Given the description of an element on the screen output the (x, y) to click on. 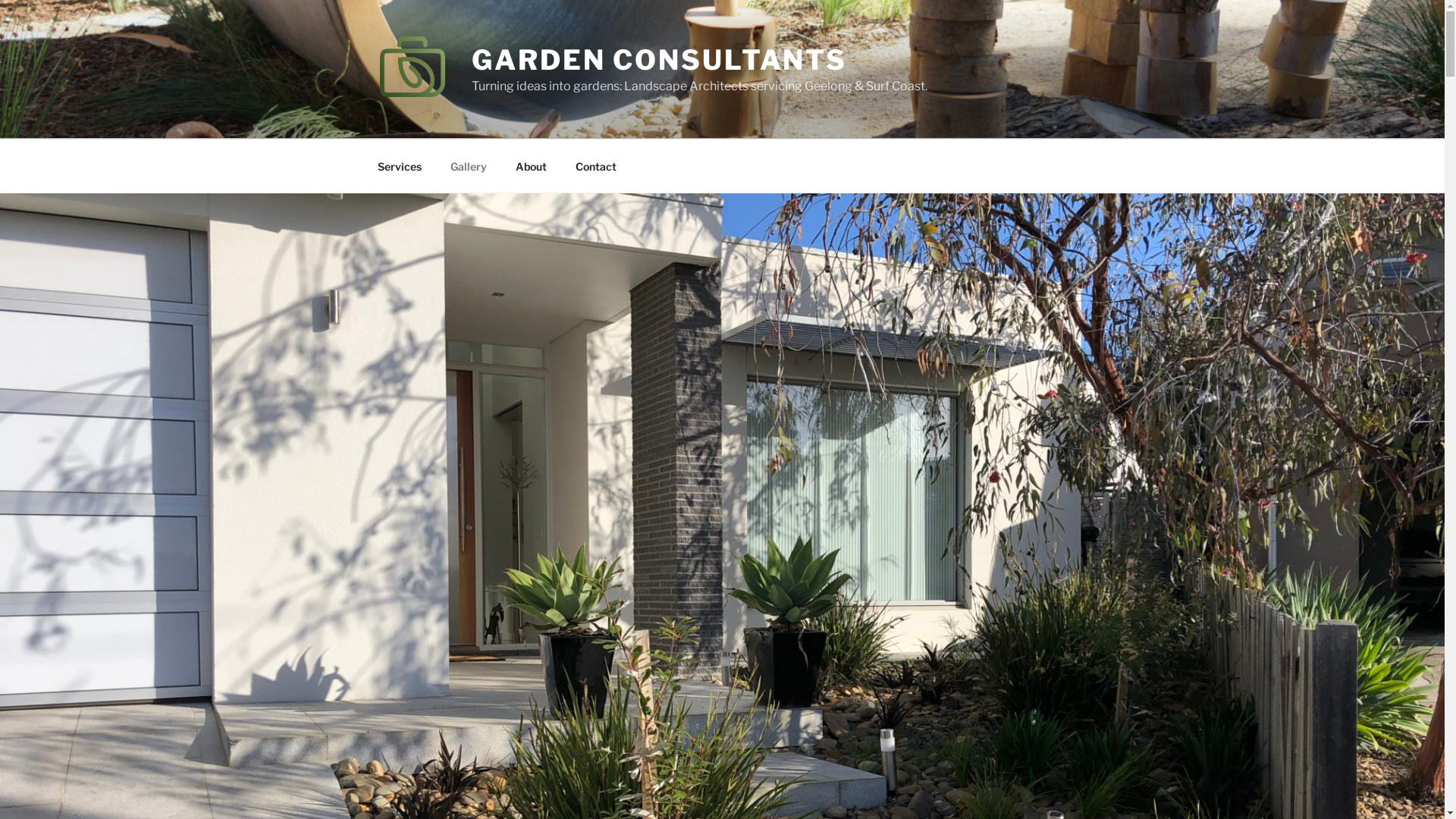
GARDEN CONSULTANTS Element type: text (659, 59)
About Element type: text (530, 165)
Services Element type: text (399, 165)
Contact Element type: text (596, 165)
Gallery Element type: text (467, 165)
